Given the description of an element on the screen output the (x, y) to click on. 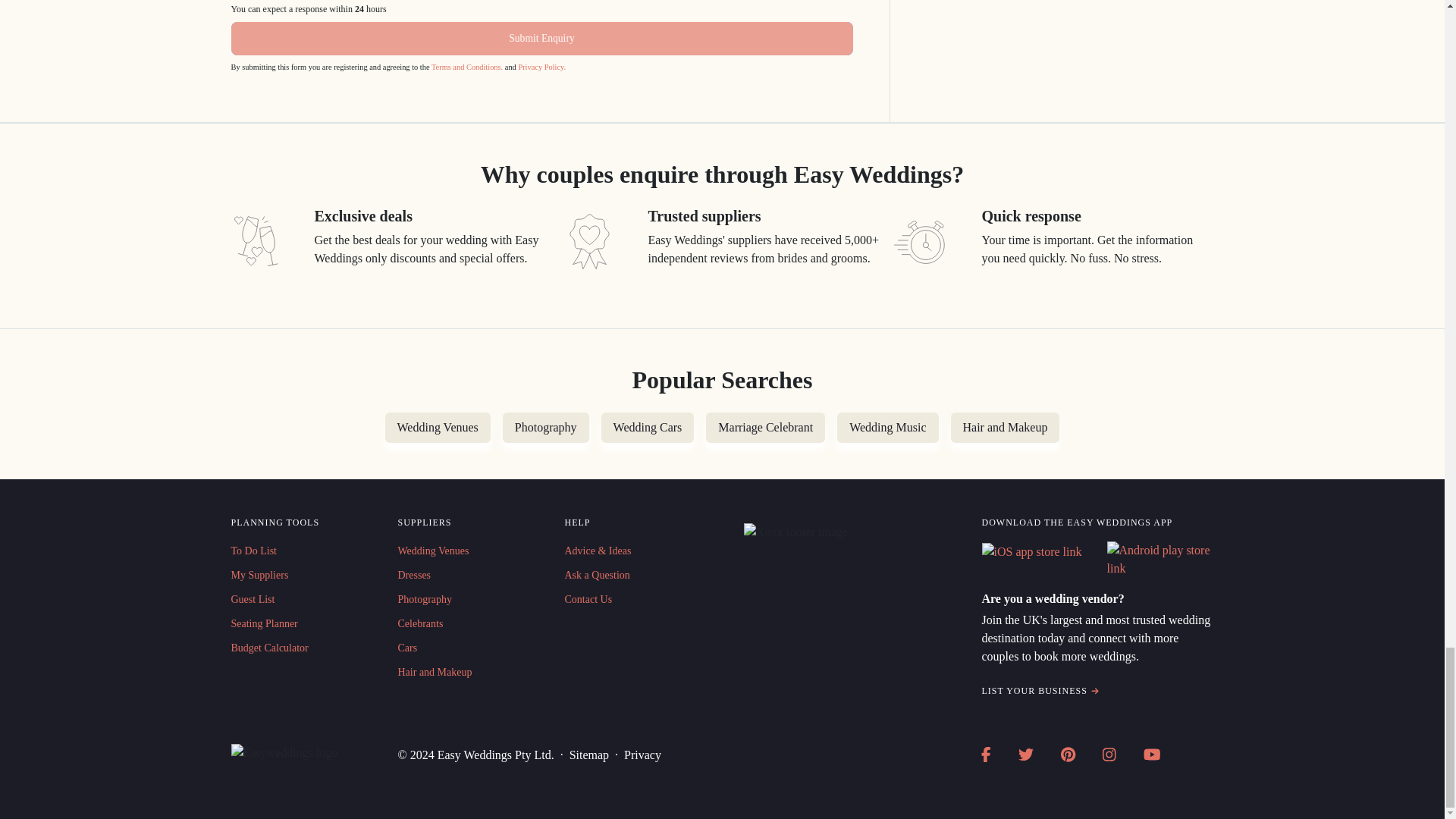
Quick response (922, 241)
Exclusive deals (255, 241)
Android play store link (1160, 559)
giveaway (588, 241)
Submit Enquiry (540, 38)
iOS app store link (1031, 551)
